Given the description of an element on the screen output the (x, y) to click on. 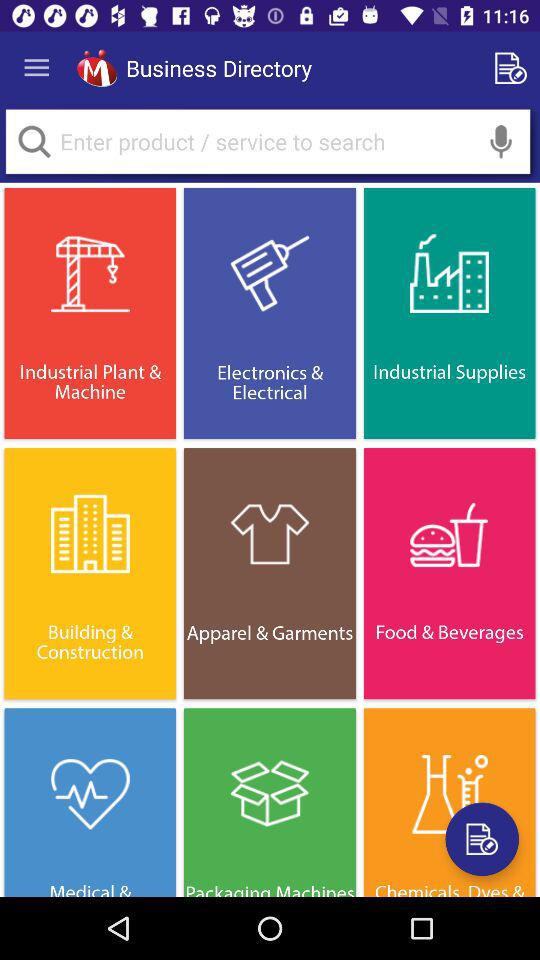
search (267, 141)
